Given the description of an element on the screen output the (x, y) to click on. 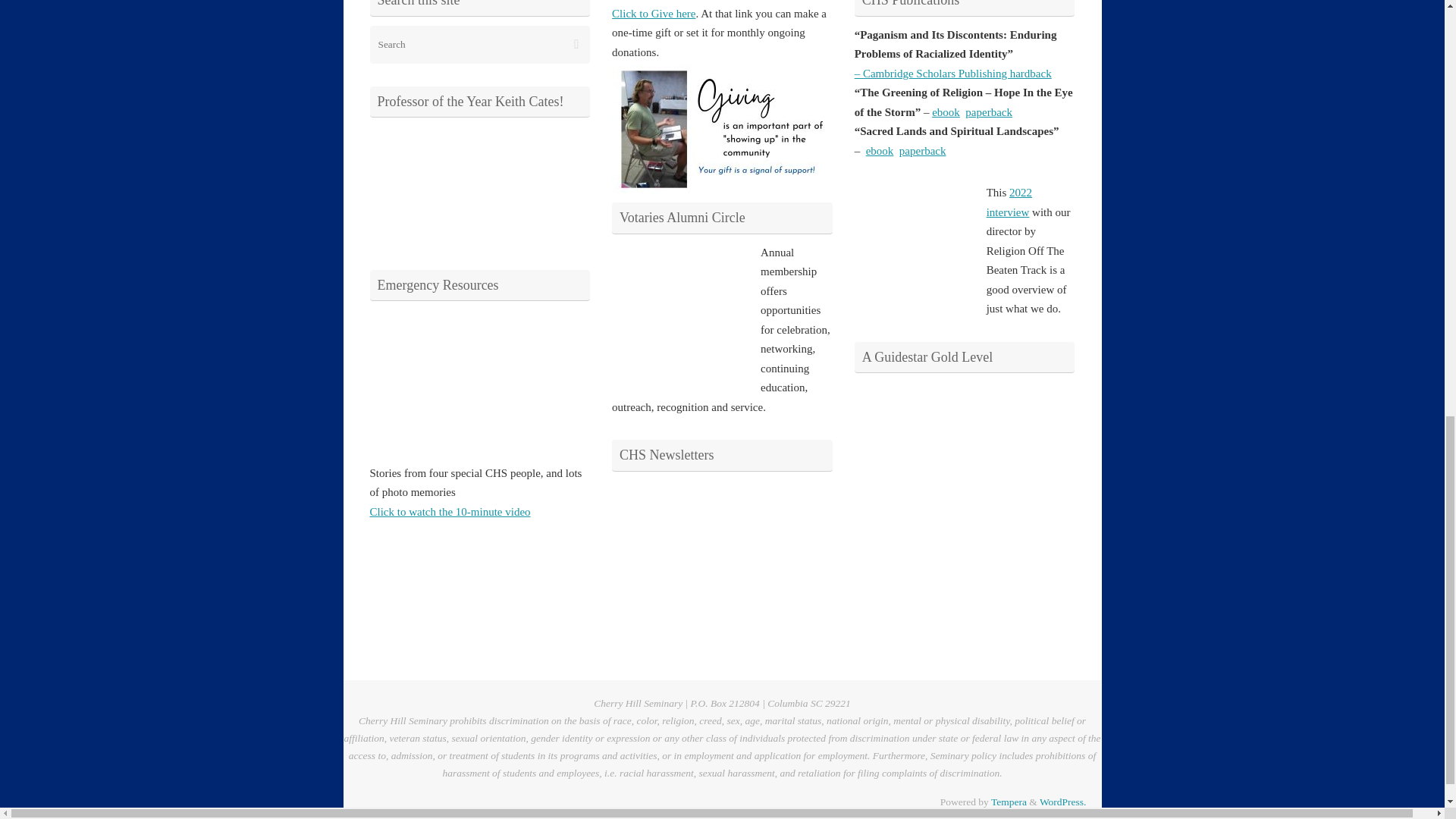
A Guidestar Gold Level (911, 439)
Semantic Personal Publishing Platform (1062, 801)
Professor of the Year Amy Beltaine! (426, 183)
Tempera Theme by Cryout Creations (1008, 801)
